Given the description of an element on the screen output the (x, y) to click on. 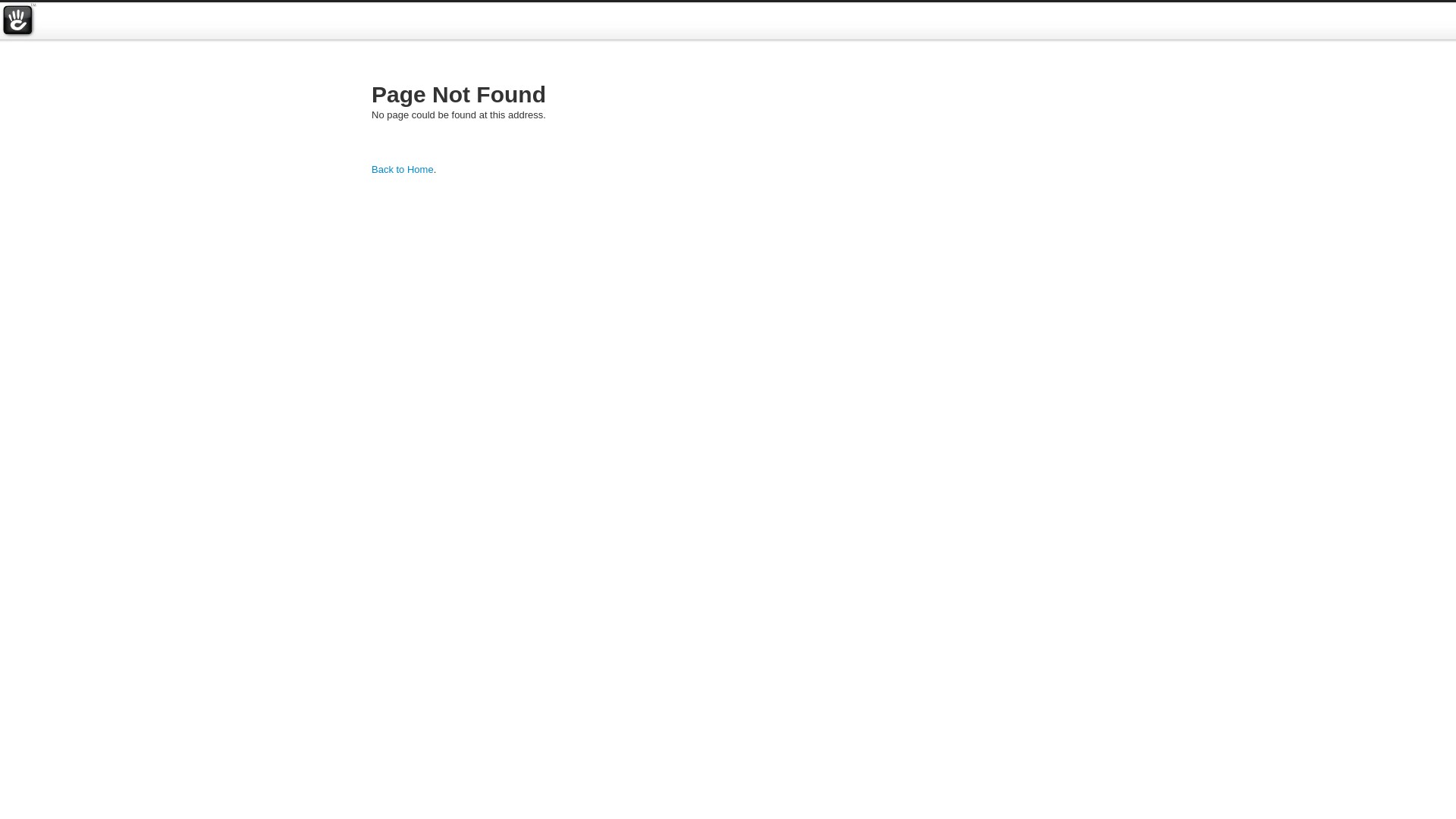
concrete5 Element type: hover (18, 20)
Back to Home Element type: text (402, 169)
